Given the description of an element on the screen output the (x, y) to click on. 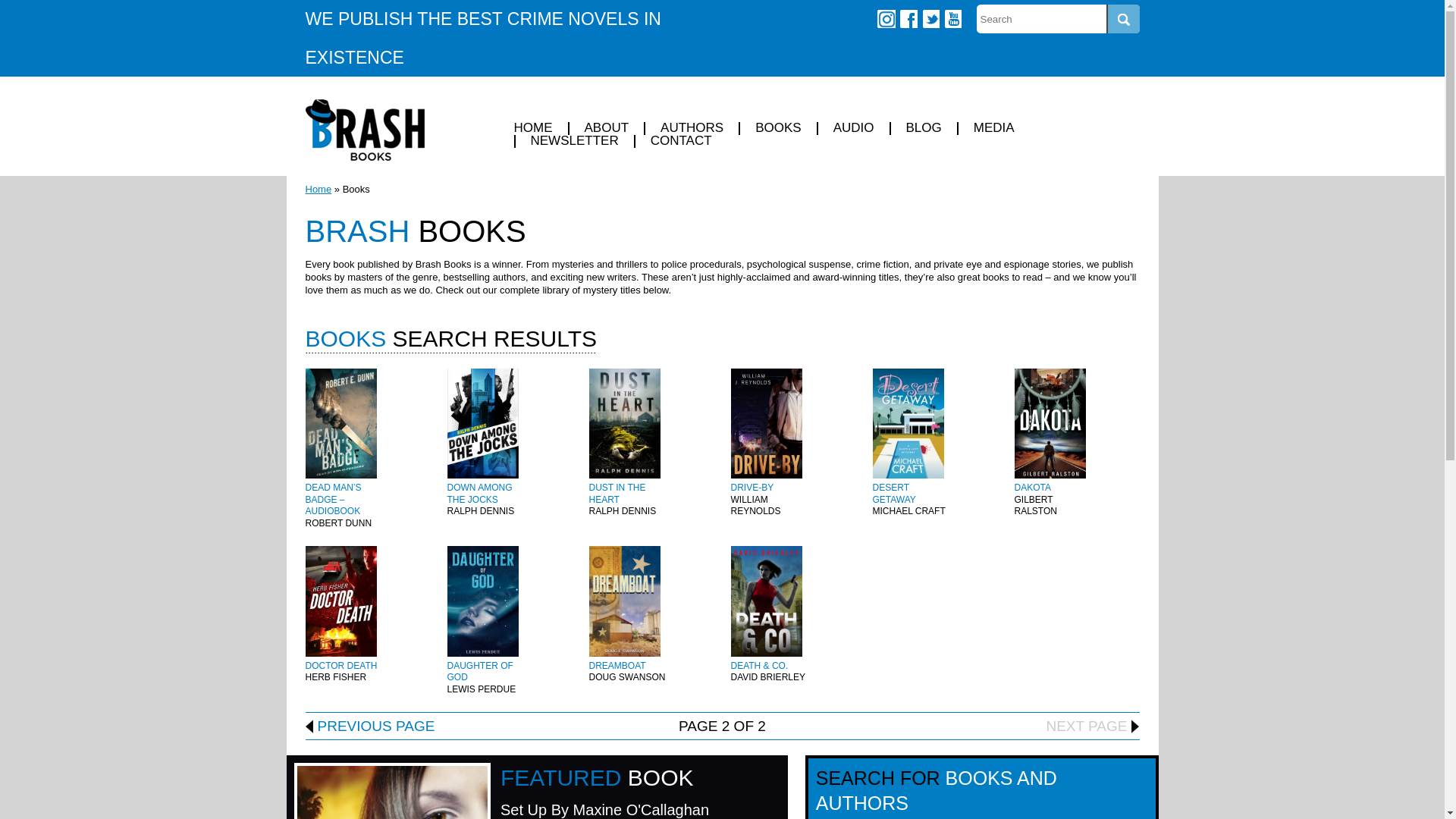
ABOUT (605, 128)
Facebook (908, 18)
BOOKS (776, 128)
NEWSLETTER (573, 141)
Home (317, 188)
DESERT GETAWAY (893, 493)
AUTHORS (690, 128)
Youtube (951, 18)
Twitter (929, 18)
DOCTOR DEATH (340, 665)
DOWN AMONG THE JOCKS (479, 493)
Brash Books Homepage (363, 129)
CONTACT (679, 141)
BLOG (922, 128)
DAKOTA (1032, 487)
